Given the description of an element on the screen output the (x, y) to click on. 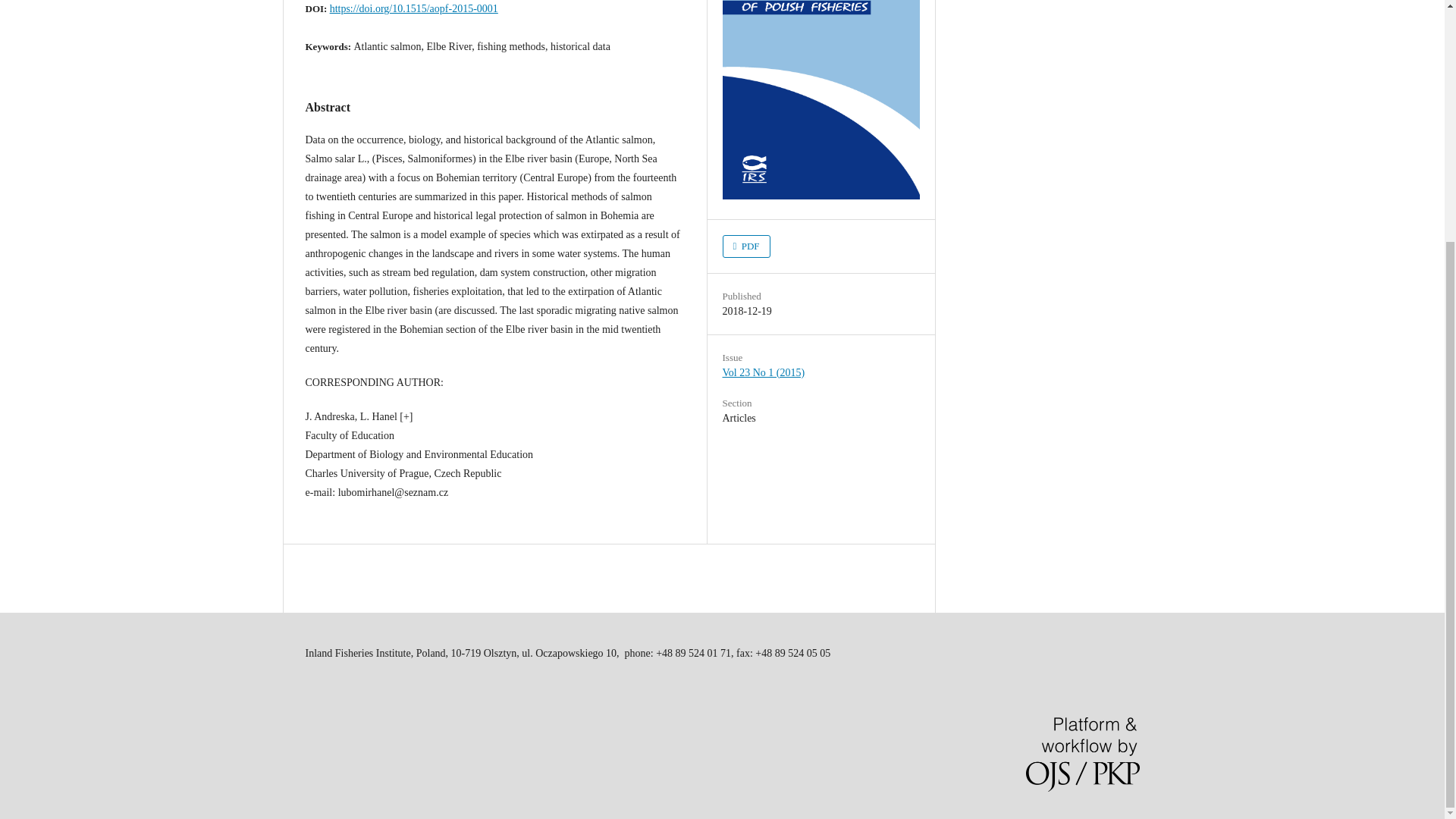
PDF (746, 246)
